Given the description of an element on the screen output the (x, y) to click on. 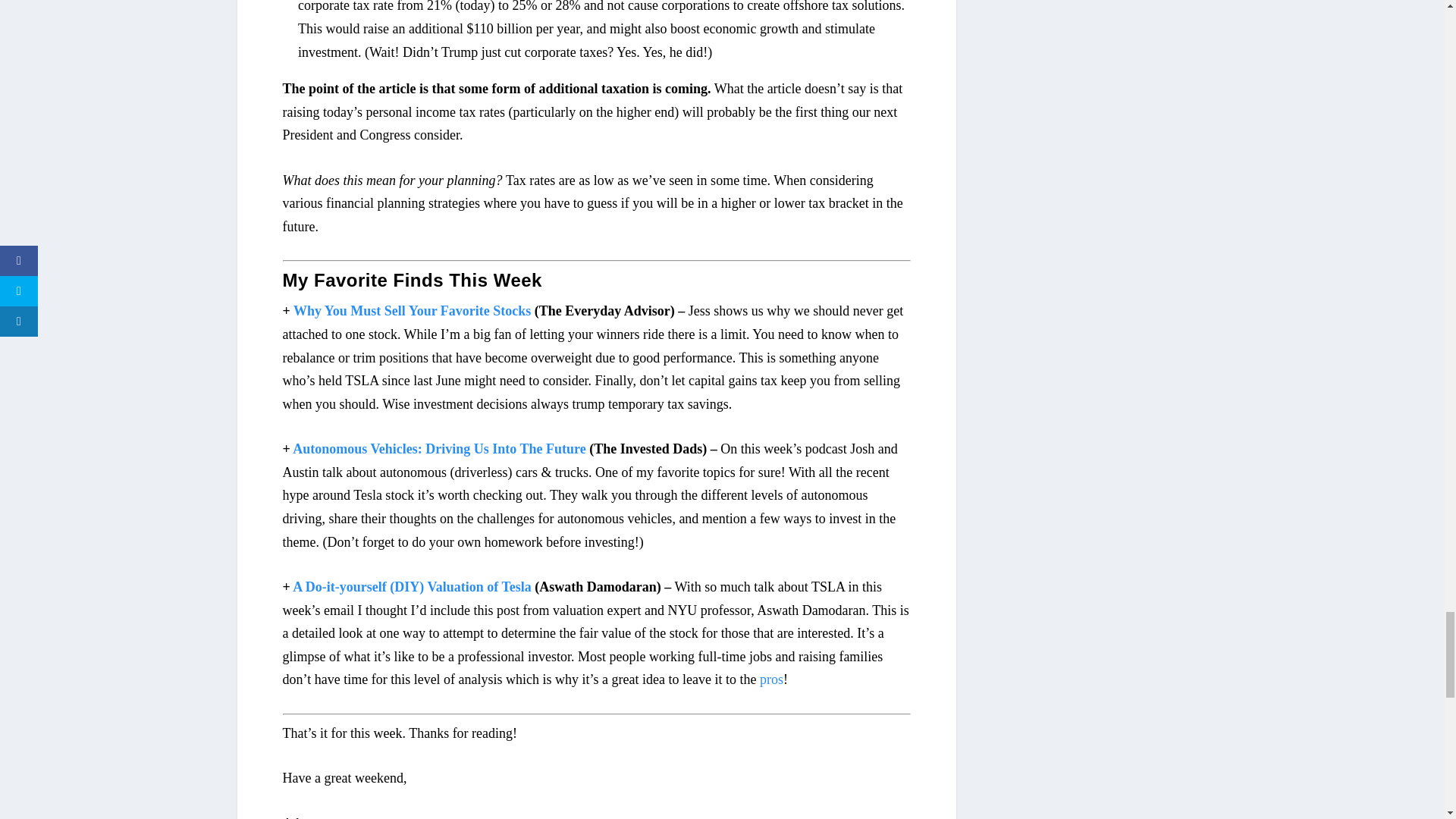
Why You Must Sell Your Favorite Stocks (412, 310)
pros (771, 679)
Autonomous Vehicles: Driving Us Into The Future (438, 448)
